Given the description of an element on the screen output the (x, y) to click on. 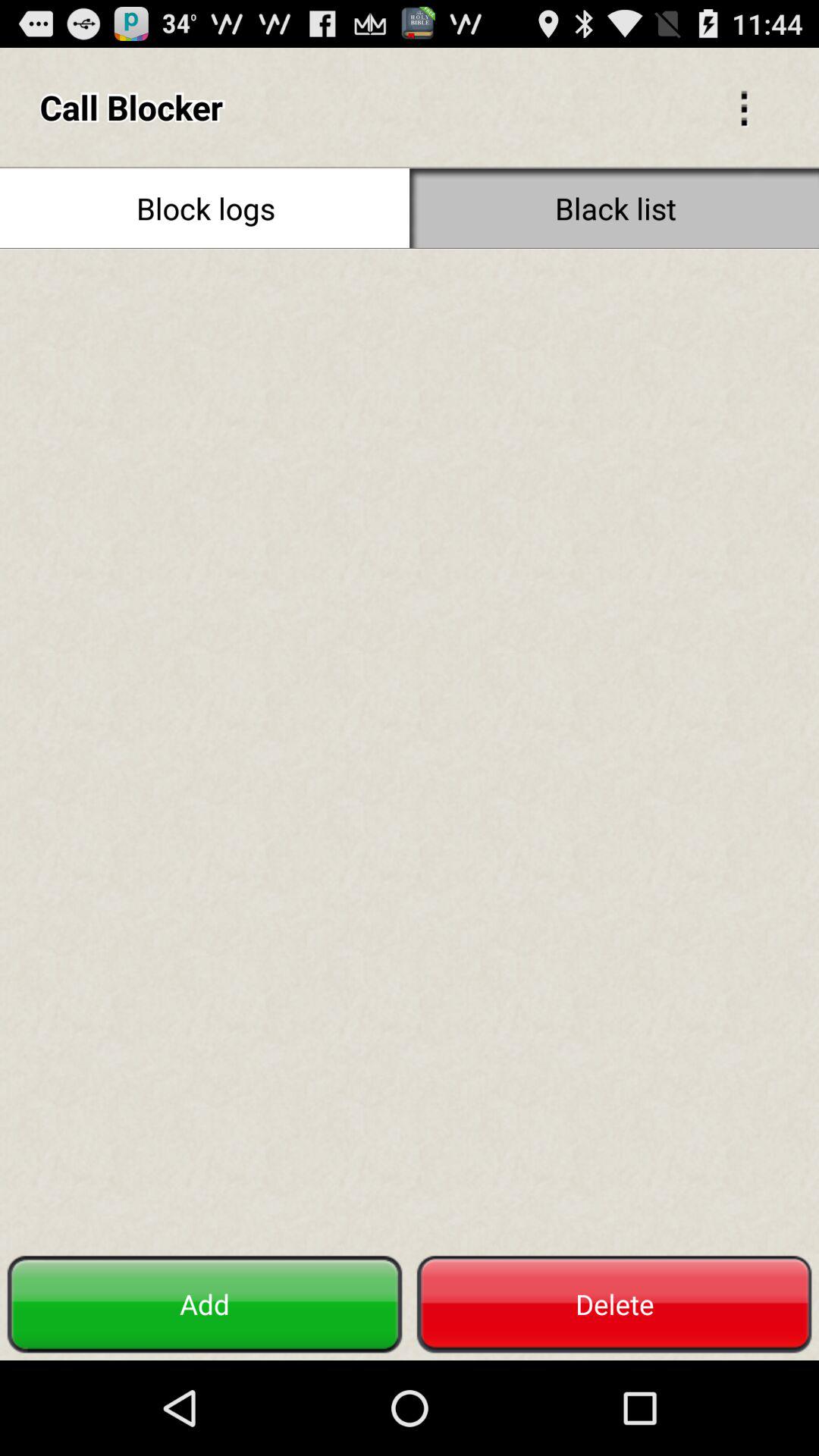
press the item to the left of the black list (204, 207)
